Given the description of an element on the screen output the (x, y) to click on. 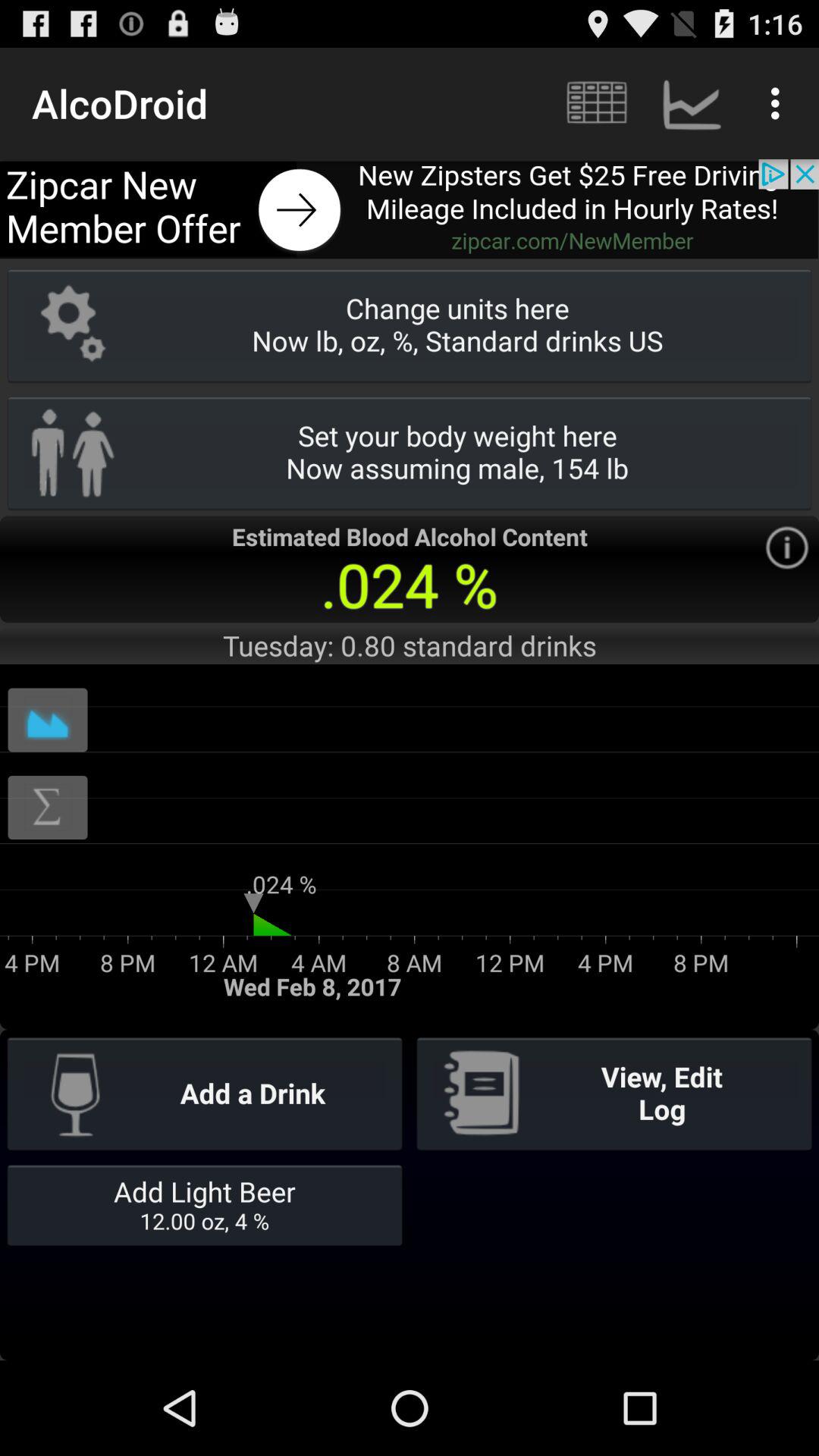
go to advertisement (409, 208)
